Given the description of an element on the screen output the (x, y) to click on. 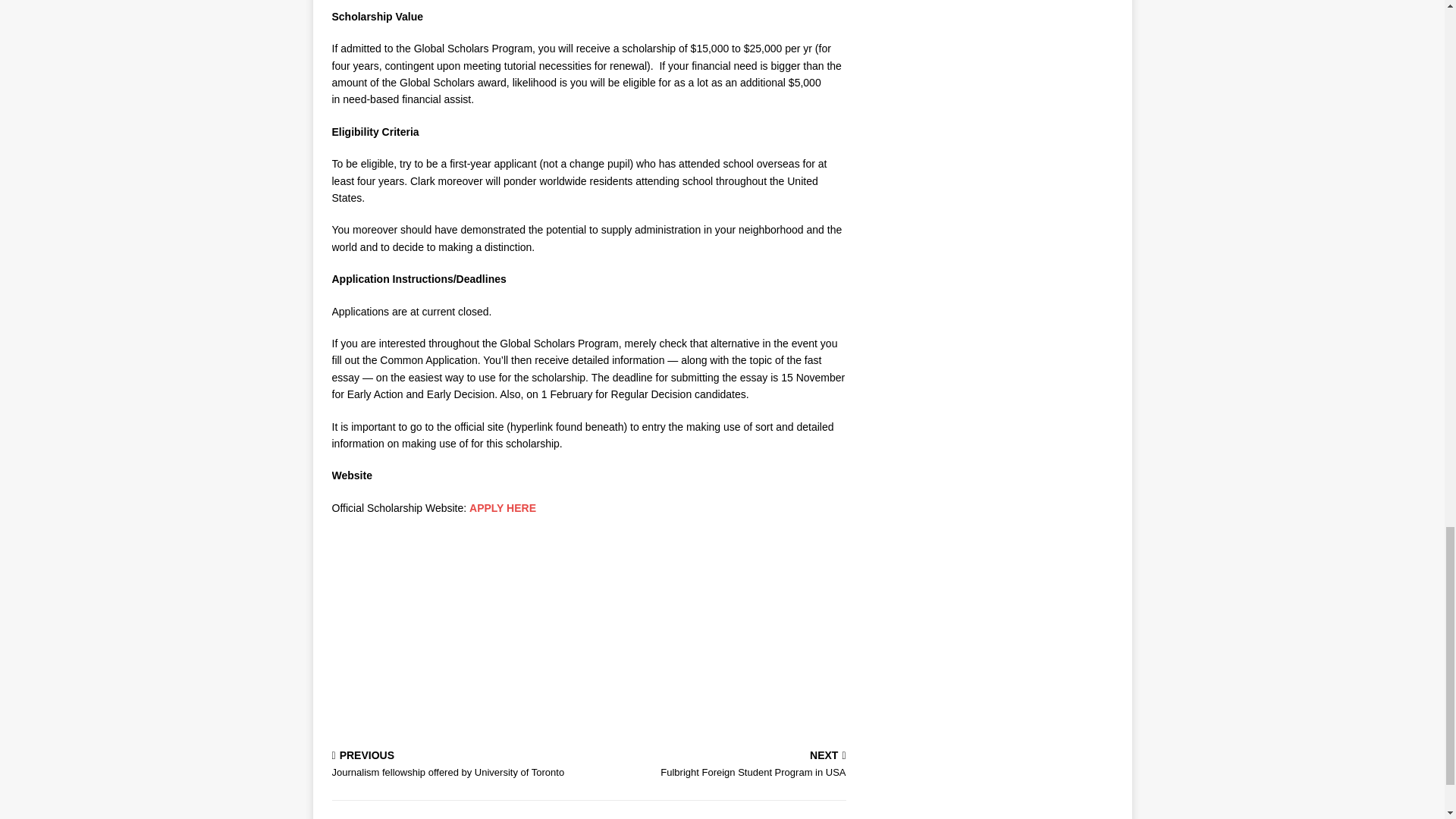
APPLY HERE (501, 508)
